Given the description of an element on the screen output the (x, y) to click on. 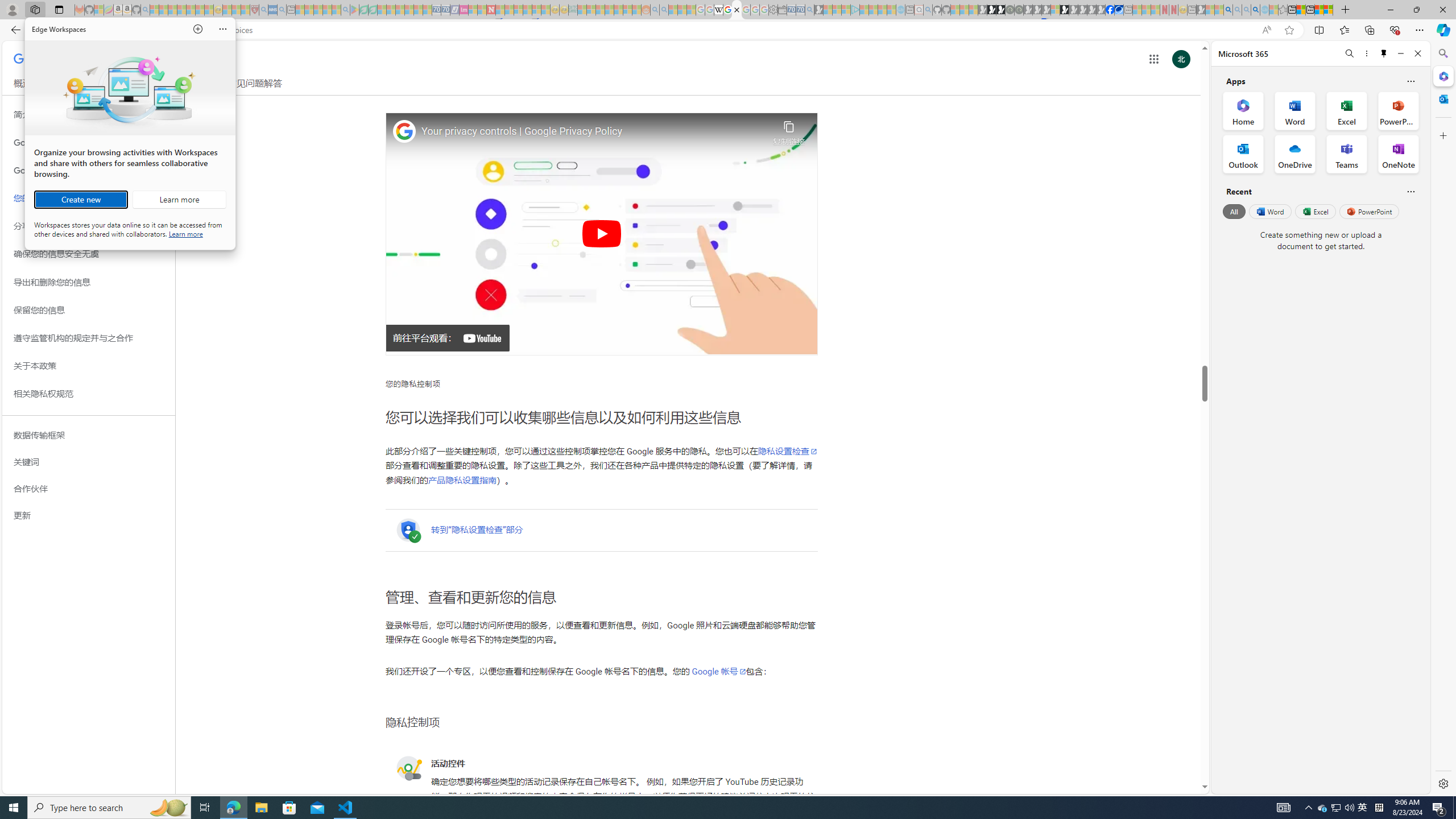
Teams Office App (1346, 154)
OneDrive Office App (1295, 154)
Nordace | Facebook (1109, 9)
Google Chrome Internet Browser Download - Search Images (1362, 807)
